Given the description of an element on the screen output the (x, y) to click on. 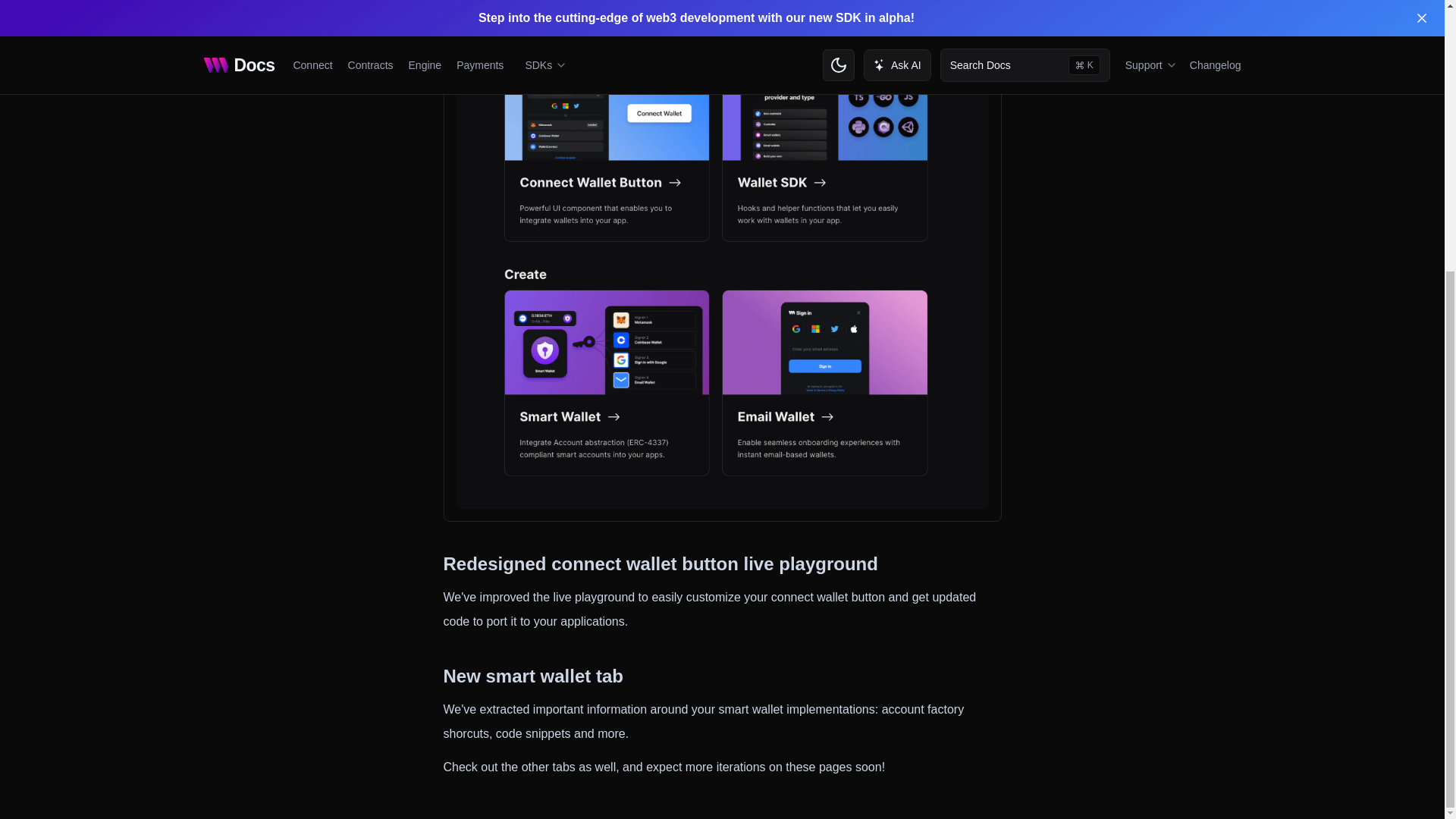
New smart wallet tab (721, 676)
Redesigned connect wallet button live playground (721, 564)
